Given the description of an element on the screen output the (x, y) to click on. 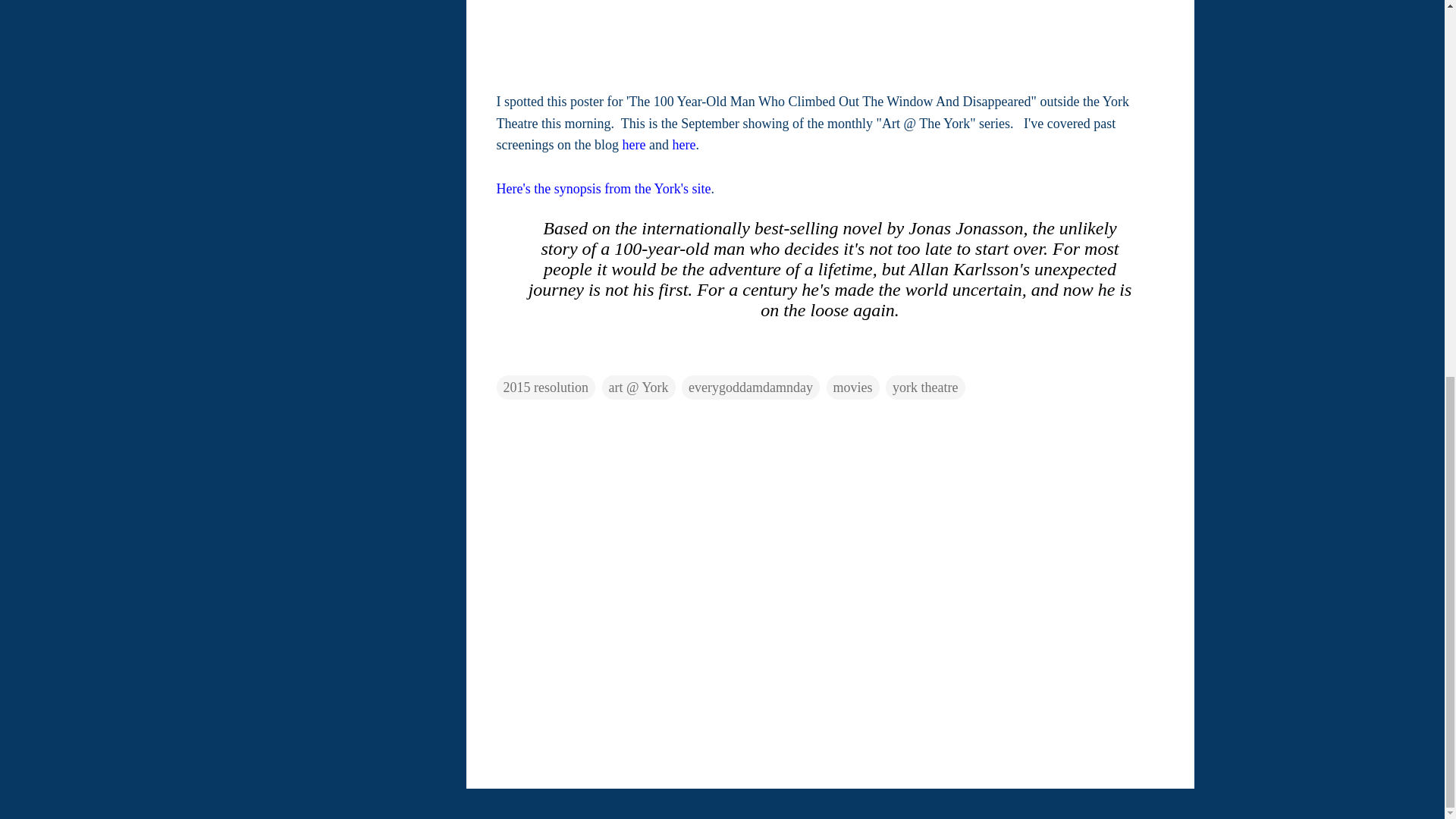
2015 resolution (545, 387)
everygoddamdamnday (750, 387)
york theatre (924, 387)
movies (853, 387)
here (683, 144)
Here's the synopsis from the York's site (603, 188)
here (633, 144)
